Given the description of an element on the screen output the (x, y) to click on. 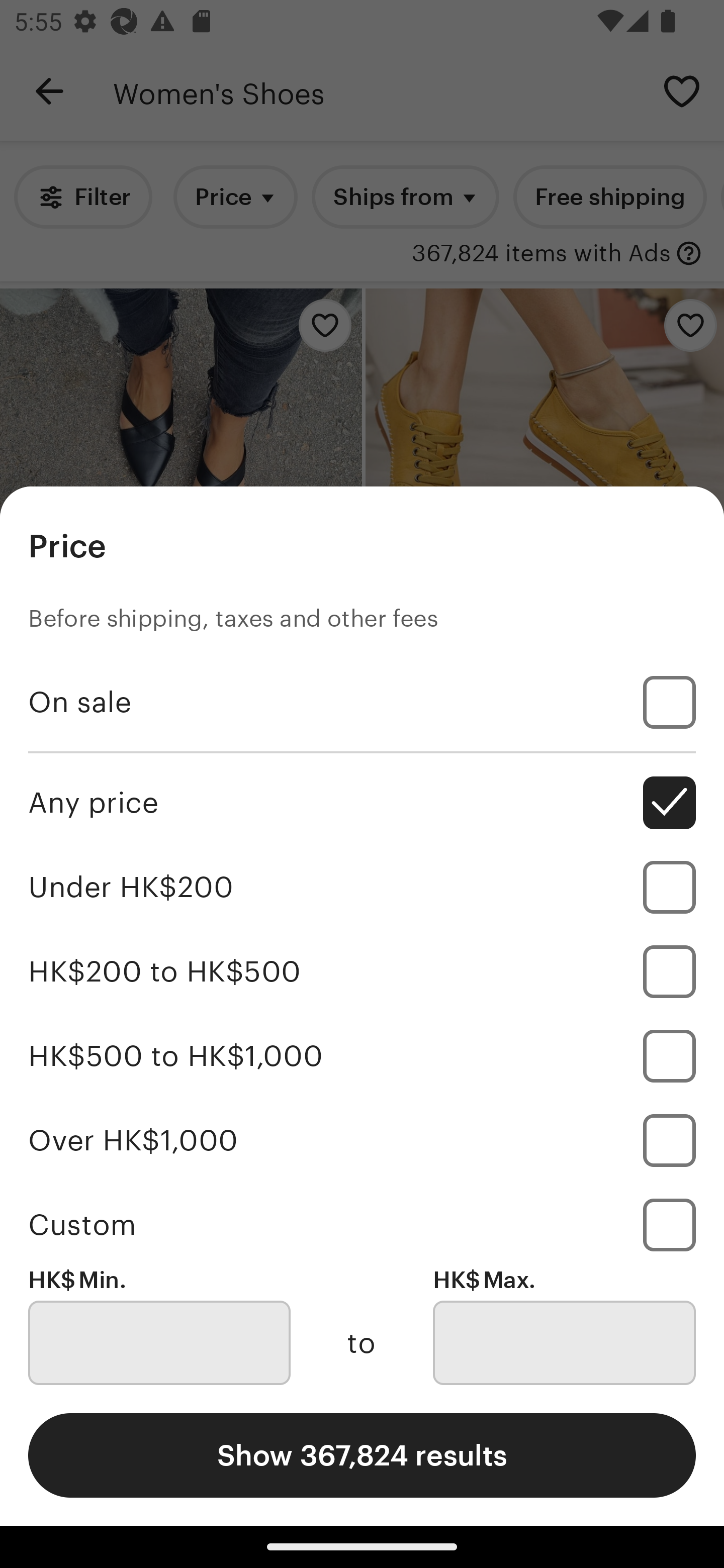
On sale (362, 702)
Any price (362, 802)
Under HK$200 (362, 887)
HK$200 to HK$500 (362, 970)
HK$500 to HK$1,000 (362, 1054)
Over HK$1,000 (362, 1139)
Custom (362, 1224)
Show 367,824 results (361, 1454)
